Given the description of an element on the screen output the (x, y) to click on. 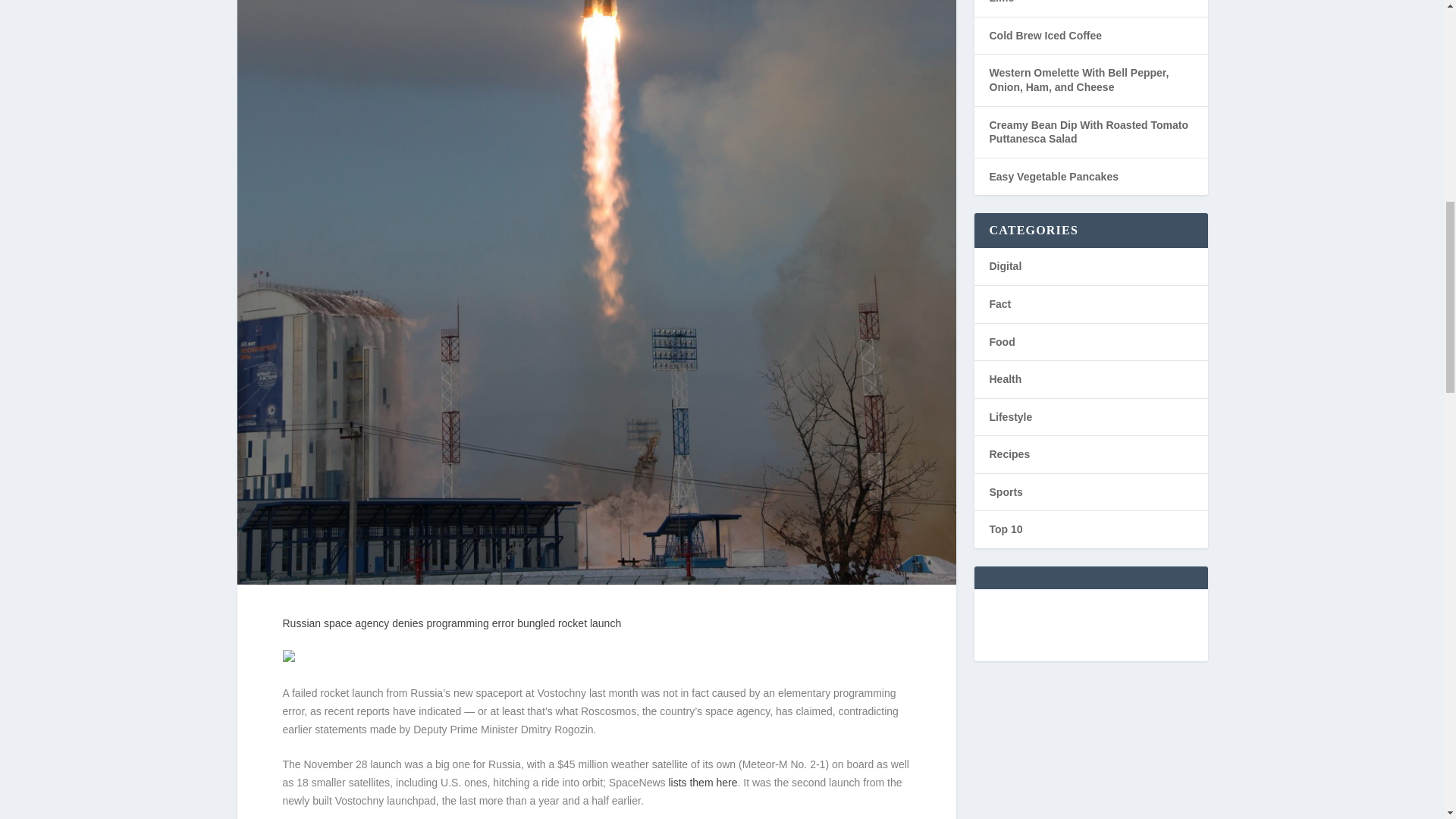
lists them here (702, 782)
